Given the description of an element on the screen output the (x, y) to click on. 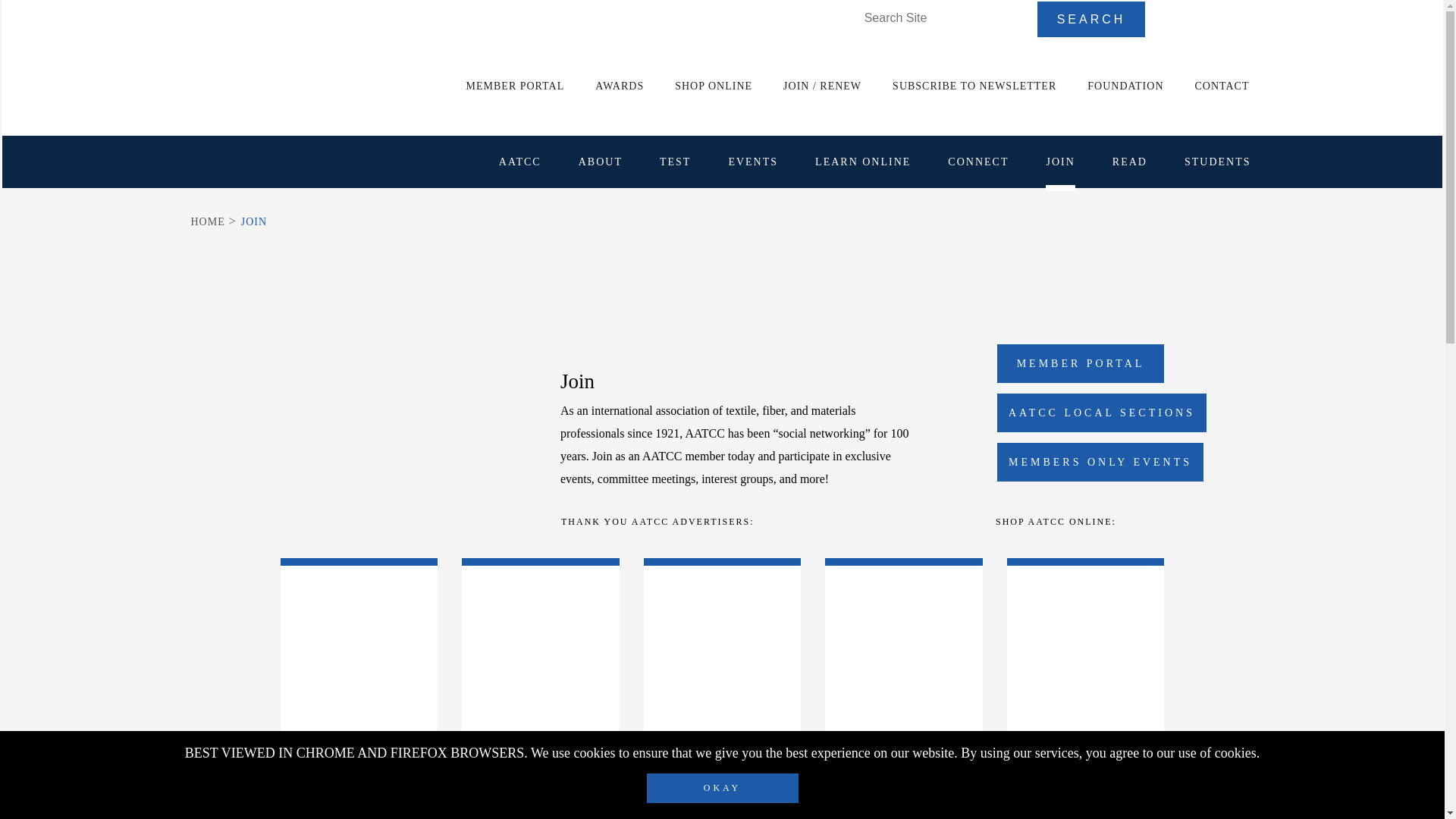
FOUNDATION (1125, 85)
AATCC (520, 161)
TEST (675, 161)
MEMBER PORTAL (515, 85)
JOIN (1059, 161)
CONNECT (977, 161)
LEARN ONLINE (863, 161)
Search (1090, 18)
ABOUT (600, 161)
SUBSCRIBE TO NEWSLETTER (974, 85)
READ (1129, 161)
AWARDS (619, 85)
SHOP ONLINE (713, 85)
CONTACT (1222, 85)
Search (1090, 18)
